Given the description of an element on the screen output the (x, y) to click on. 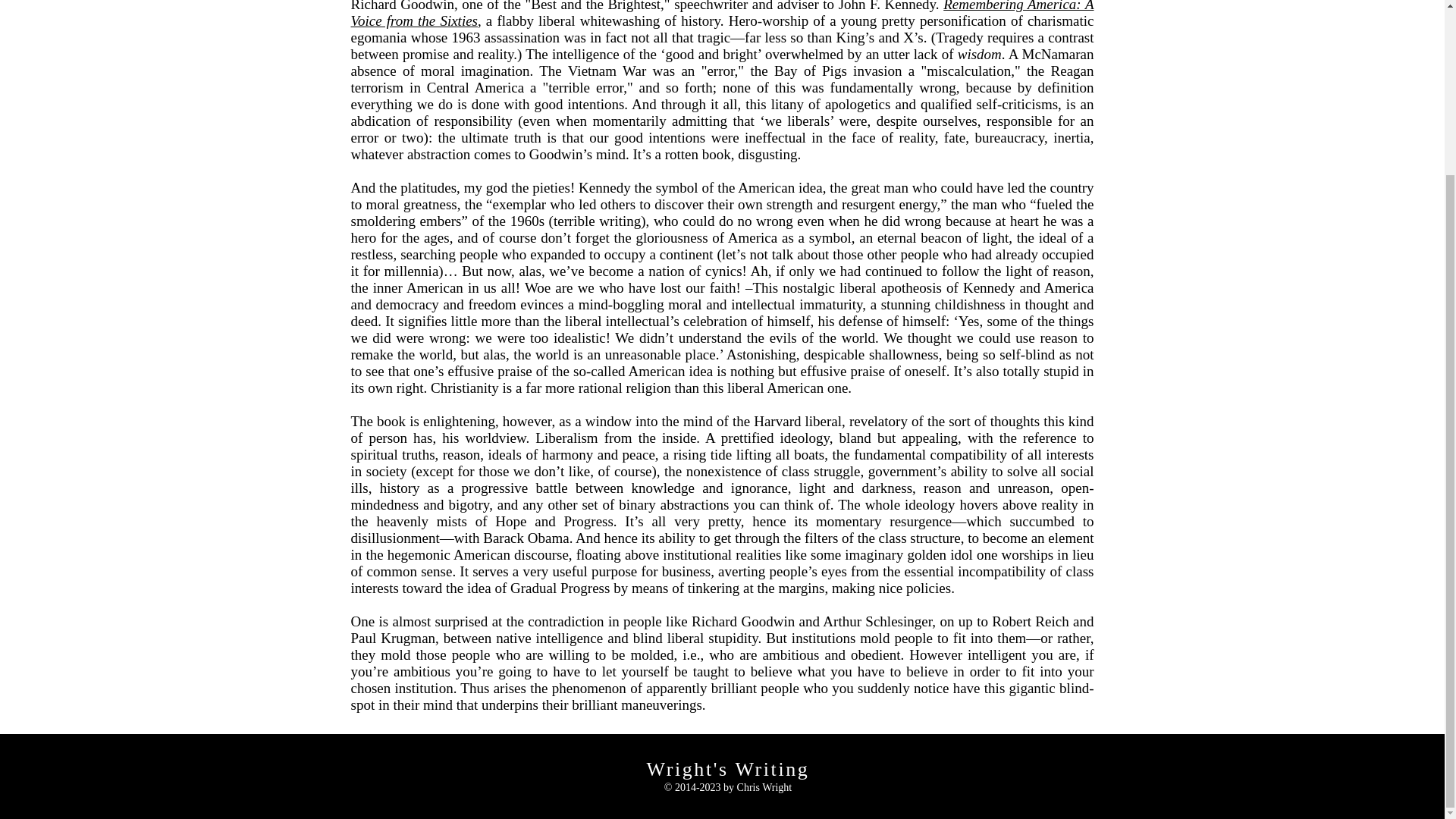
Remembering America: A Voice from the Sixties (721, 14)
